Given the description of an element on the screen output the (x, y) to click on. 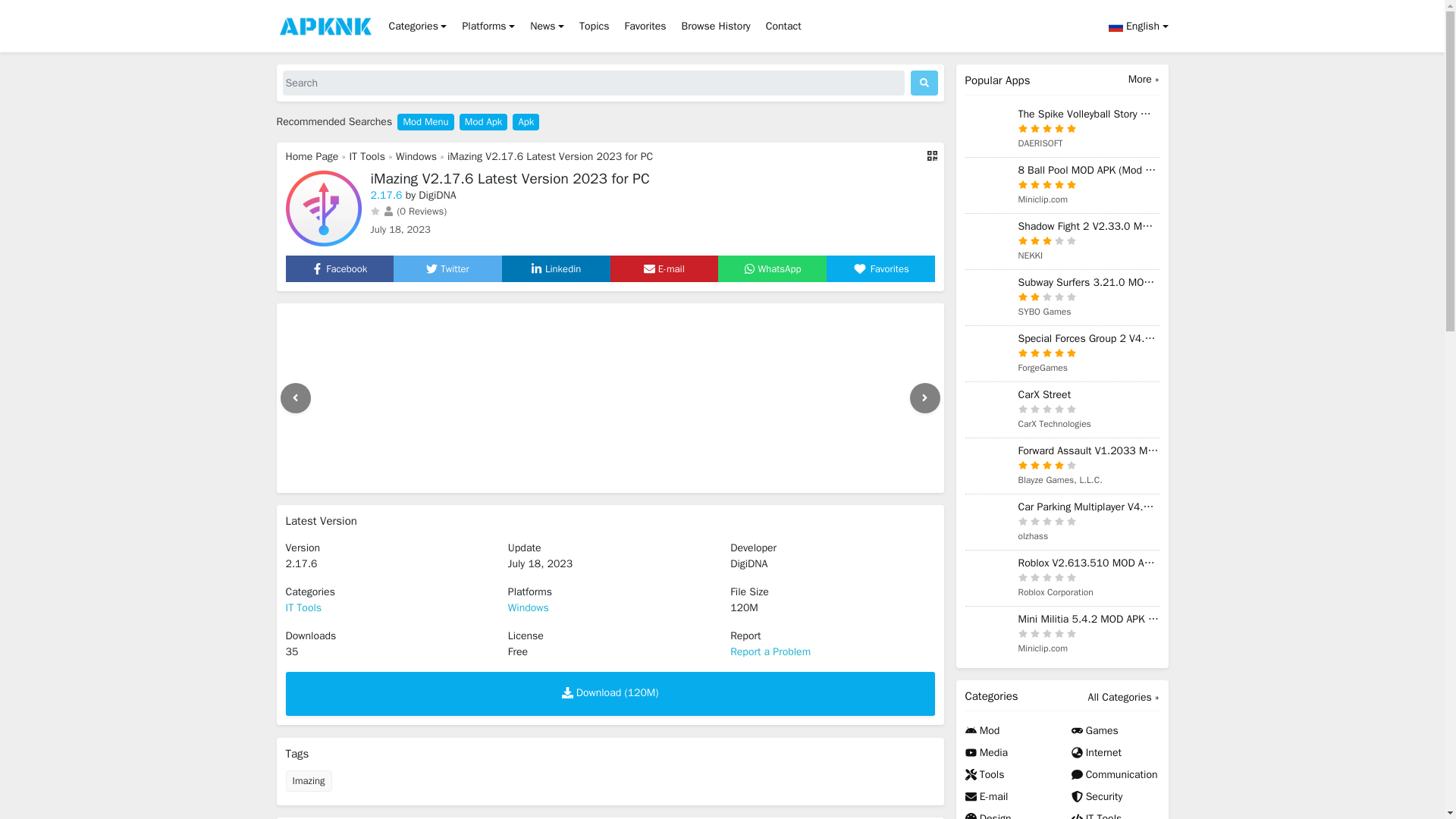
Home Page (311, 155)
Apk (525, 121)
English (1134, 26)
News (547, 26)
IT Tools (367, 155)
Topics (593, 26)
Contact (784, 26)
Windows (416, 155)
Mod Apk (483, 121)
Platforms (488, 26)
